Given the description of an element on the screen output the (x, y) to click on. 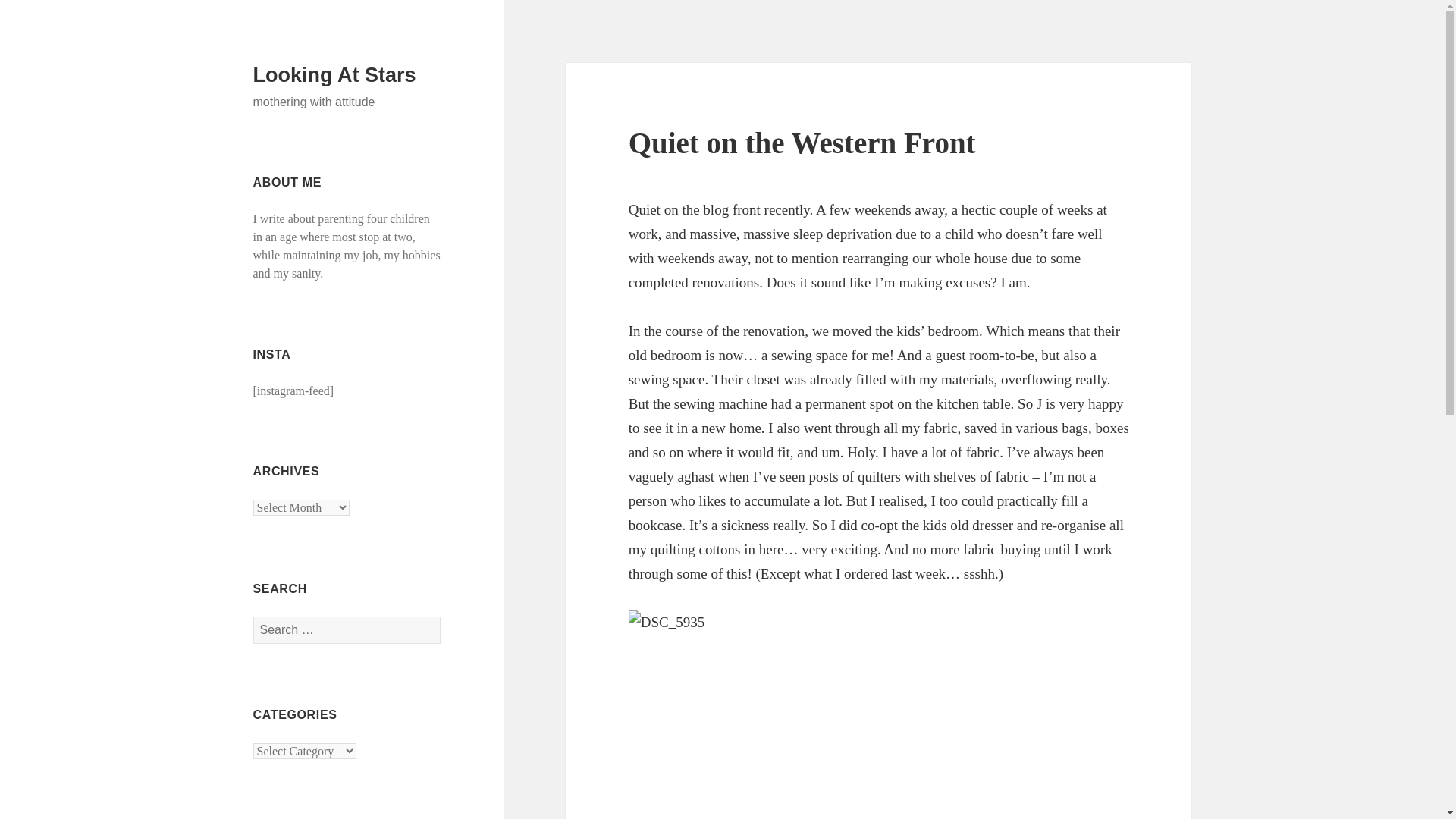
Looking At Stars (334, 74)
